Given the description of an element on the screen output the (x, y) to click on. 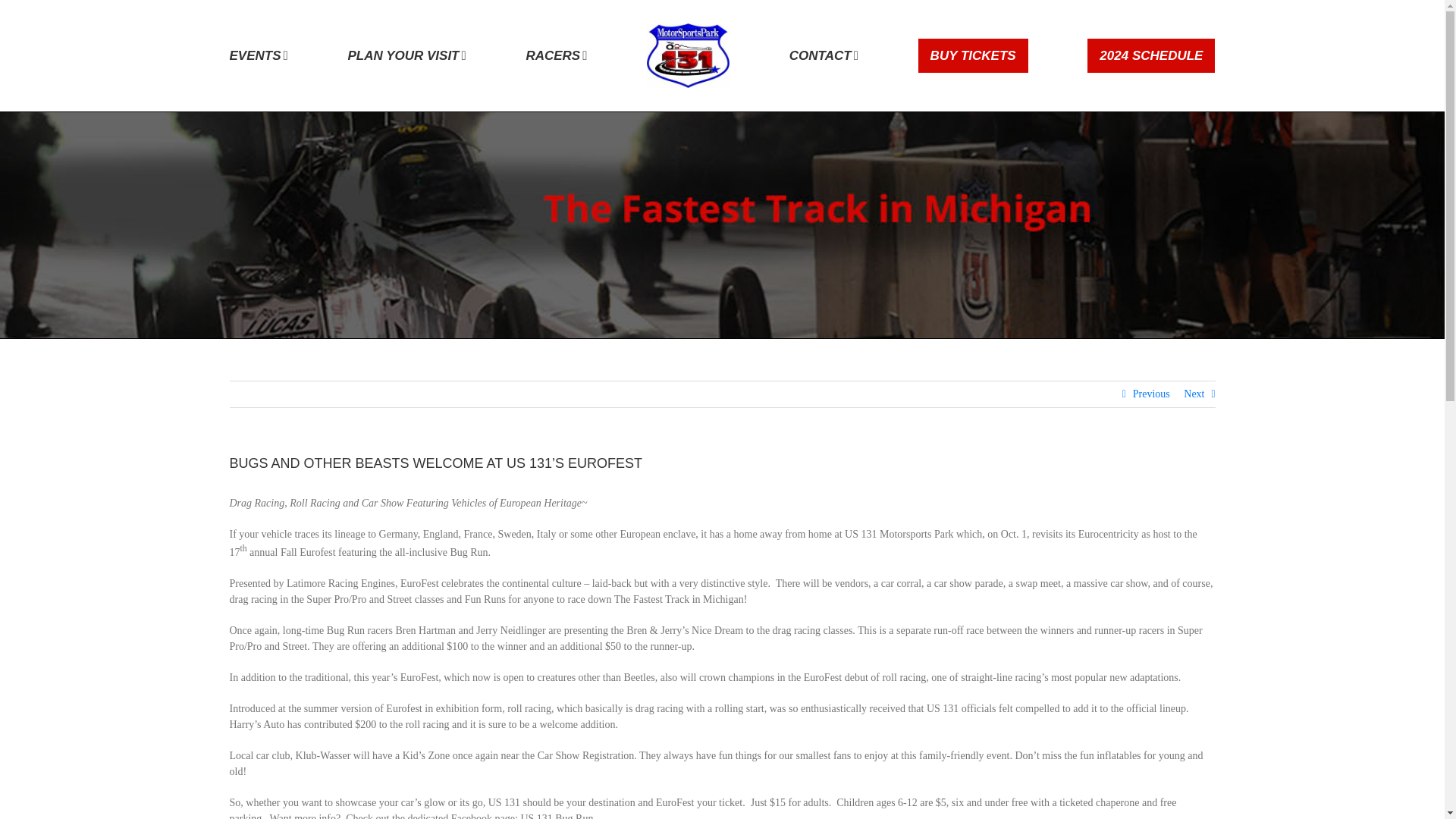
CONTACT (824, 54)
BUY TICKETS (972, 54)
2024 SCHEDULE (1150, 54)
Previous (1151, 394)
EVENTS (257, 54)
PLAN YOUR VISIT (406, 54)
RACERS (555, 54)
